Given the description of an element on the screen output the (x, y) to click on. 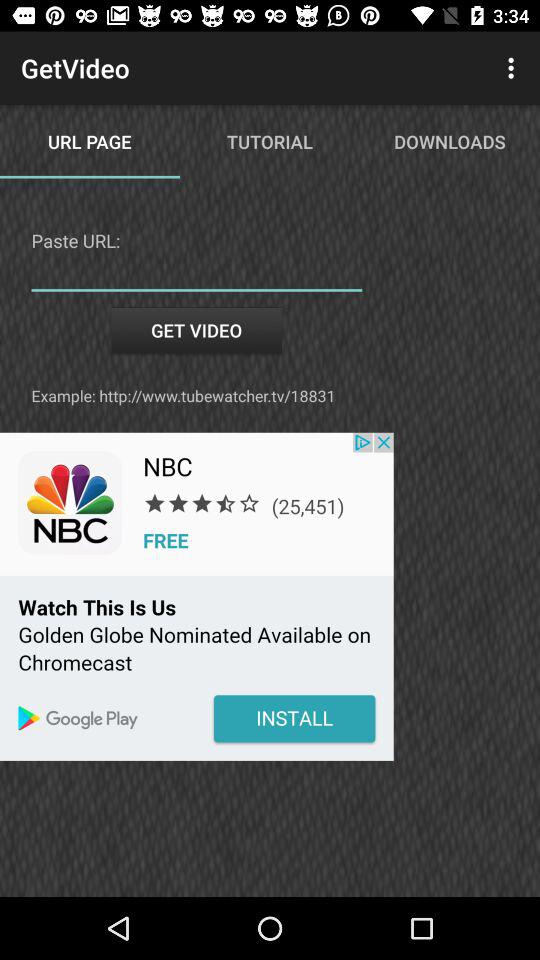
color print (196, 596)
